Given the description of an element on the screen output the (x, y) to click on. 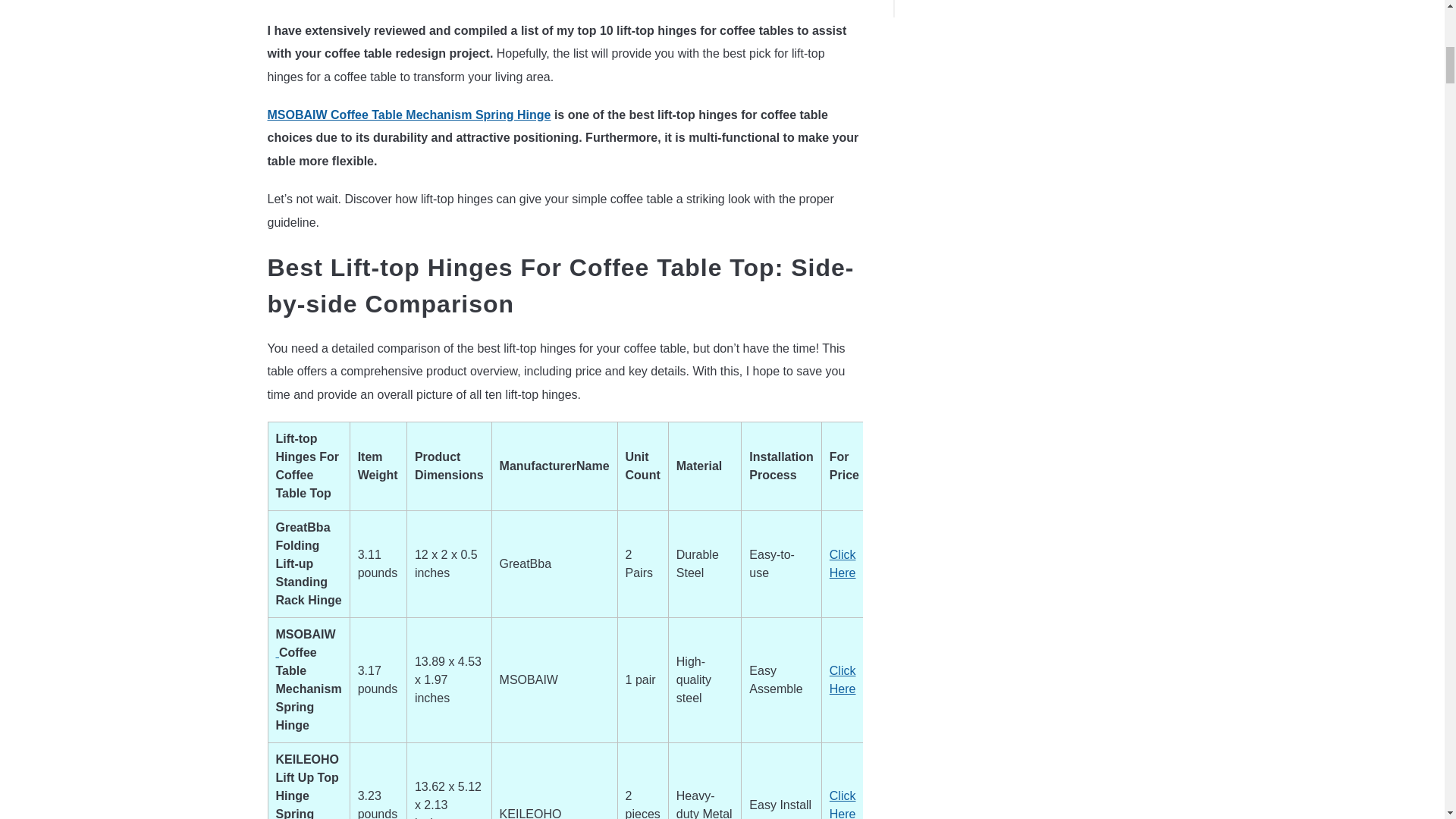
Click Here (842, 804)
MSOBAIW Coffee Table Mechanism Spring Hinge (408, 114)
